Given the description of an element on the screen output the (x, y) to click on. 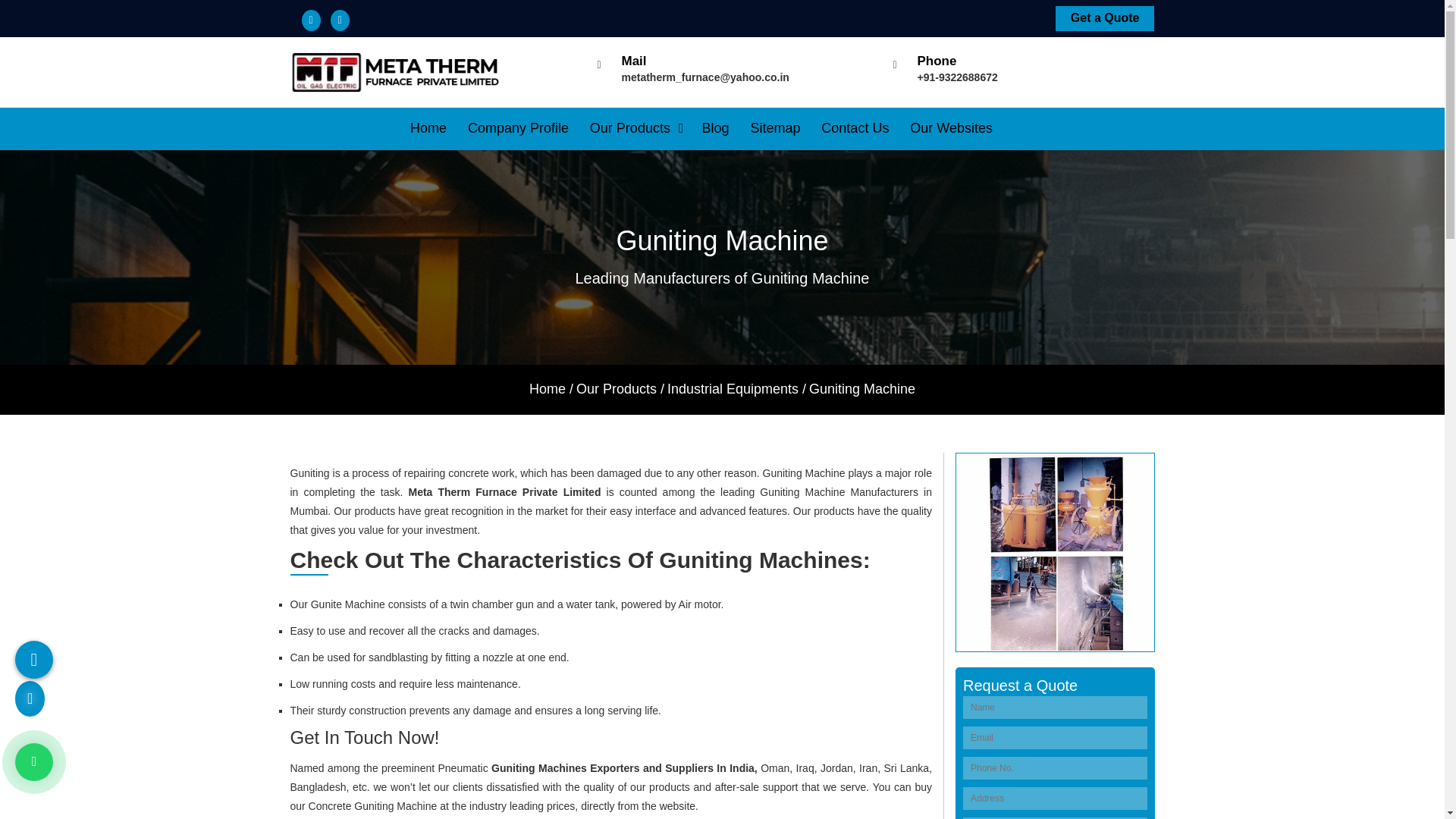
Meta Therm Furnace Private Limited (395, 70)
Company Profile (518, 128)
Our Products (636, 128)
Meta Therm Furnace Private Limited (395, 72)
Our Products (636, 128)
Send Enquiry (1104, 18)
Company Profile (518, 128)
Home (428, 128)
Get a Quote (1104, 18)
Home (428, 128)
